Given the description of an element on the screen output the (x, y) to click on. 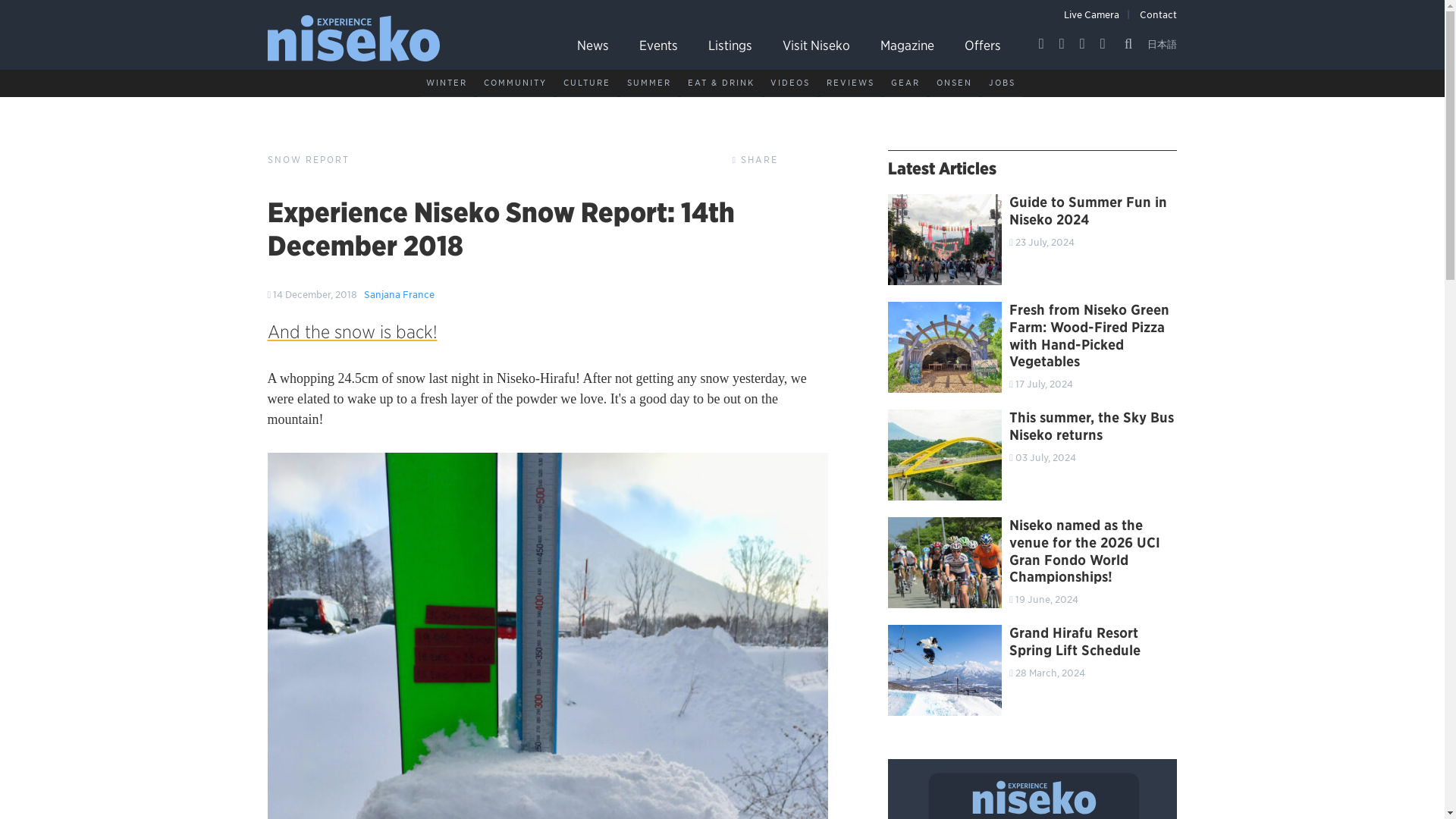
Live Camera (1091, 14)
Offers (982, 44)
News (592, 44)
WINTER (446, 83)
Magazine (907, 44)
Contact (1158, 14)
CULTURE (586, 83)
Listings (729, 44)
Events (658, 44)
COMMUNITY (515, 83)
VIDEOS (790, 83)
SUMMER (649, 83)
Visit Niseko (816, 44)
